Given the description of an element on the screen output the (x, y) to click on. 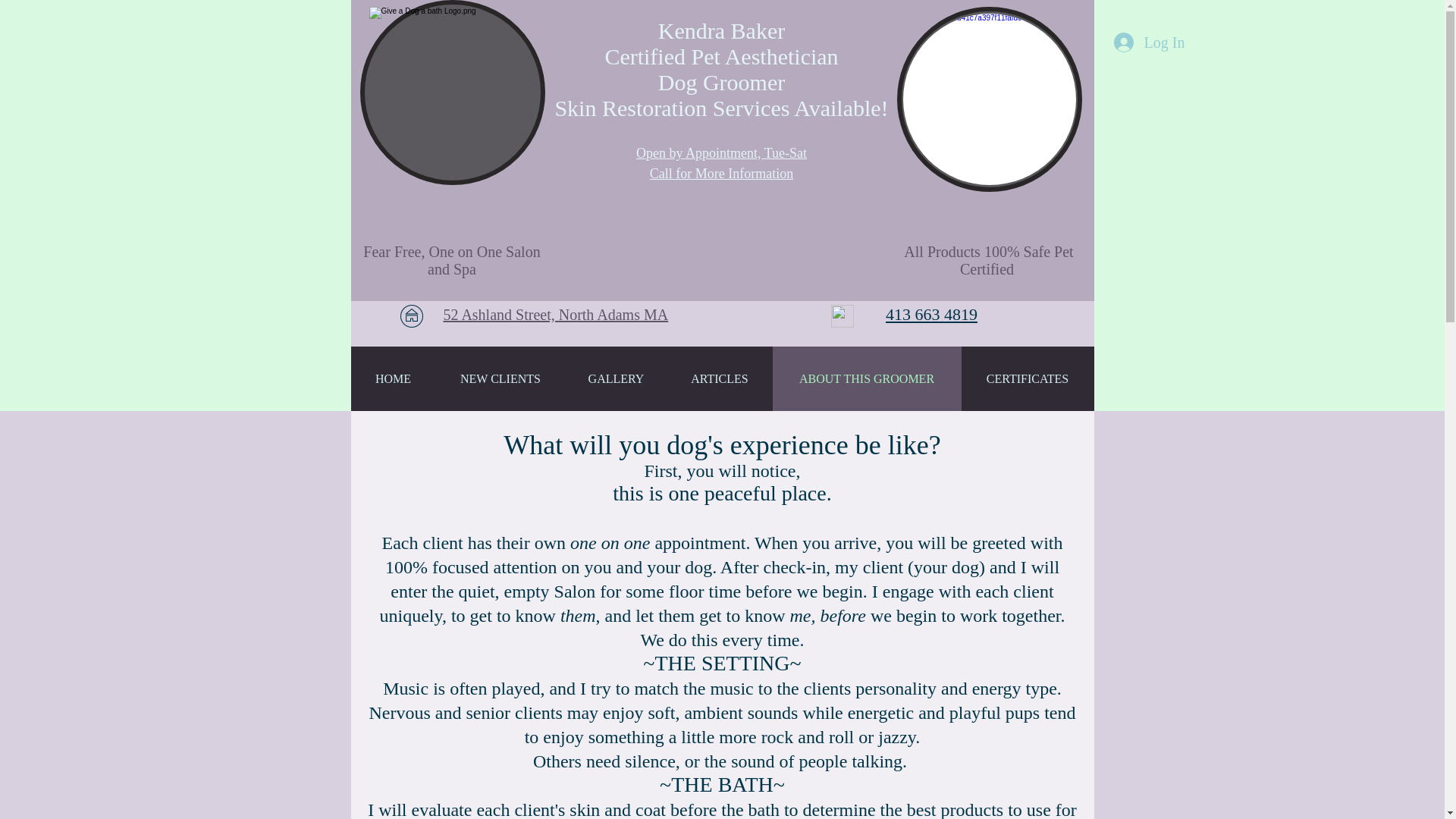
ARTICLES (719, 378)
GALLERY (616, 378)
CERTIFICATES (1027, 378)
Open by Appoint (683, 152)
ment, Tue-Sat (768, 152)
Log In (1147, 42)
ABOUT THIS GROOMER (865, 378)
52 Ashland Street, North Adams MA (555, 314)
413 663 4819 (930, 313)
NEW CLIENTS (499, 378)
HOME (392, 378)
